Given the description of an element on the screen output the (x, y) to click on. 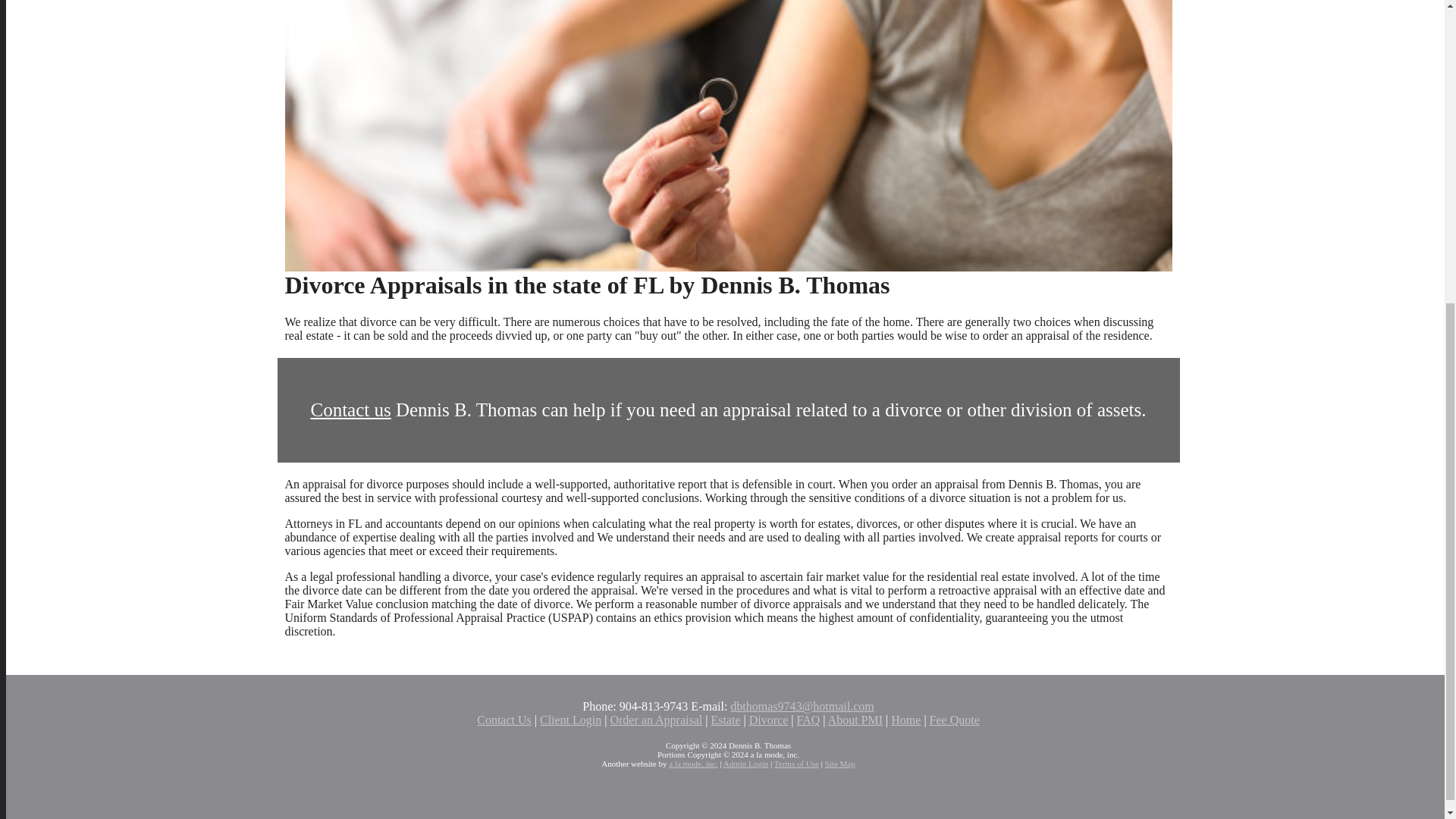
Estate (724, 719)
Contact us (350, 409)
FAQ (807, 719)
Contact Us (504, 719)
Order an Appraisal (655, 719)
About PMI (855, 719)
Client Login (570, 719)
Divorce (769, 719)
